Given the description of an element on the screen output the (x, y) to click on. 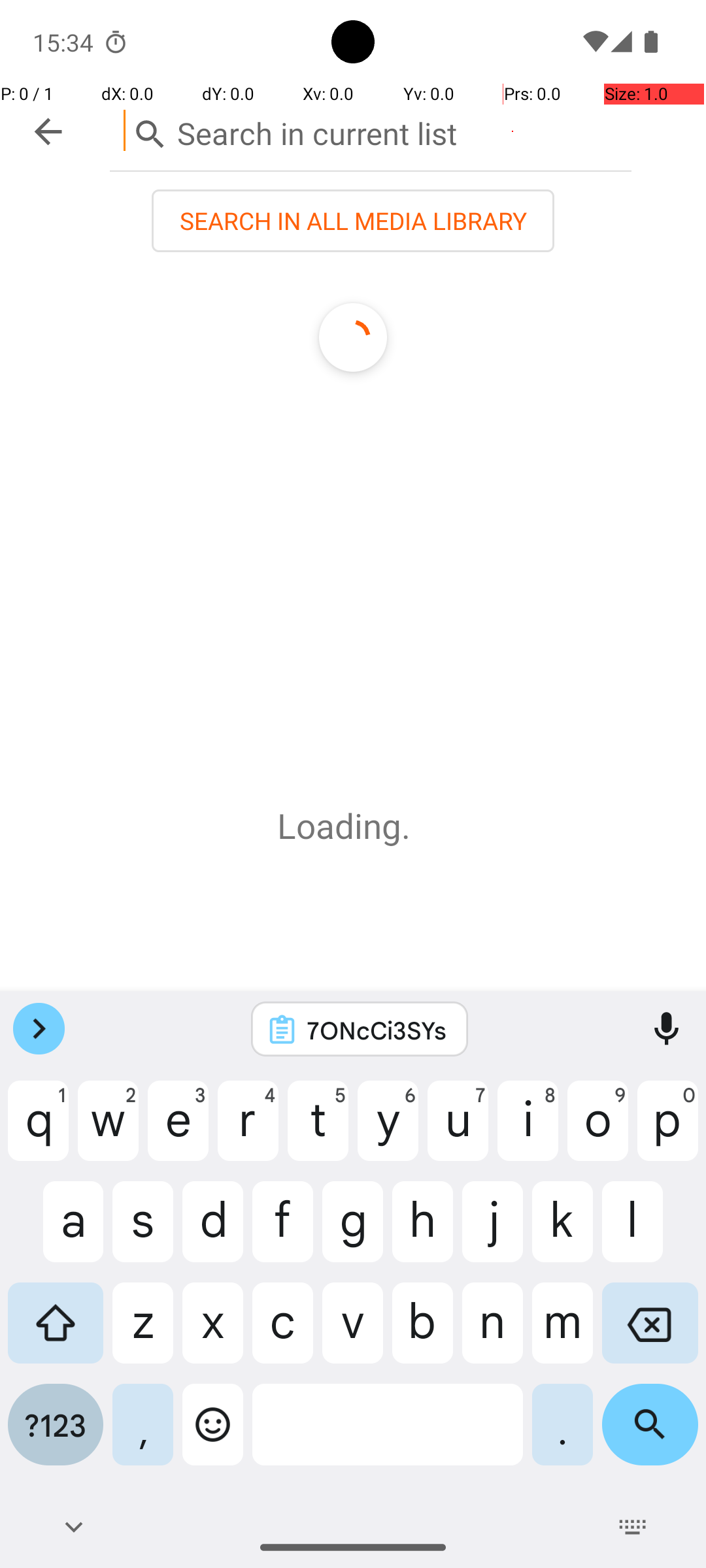
7ONcCi3SYs Element type: android.widget.TextView (376, 1029)
